Given the description of an element on the screen output the (x, y) to click on. 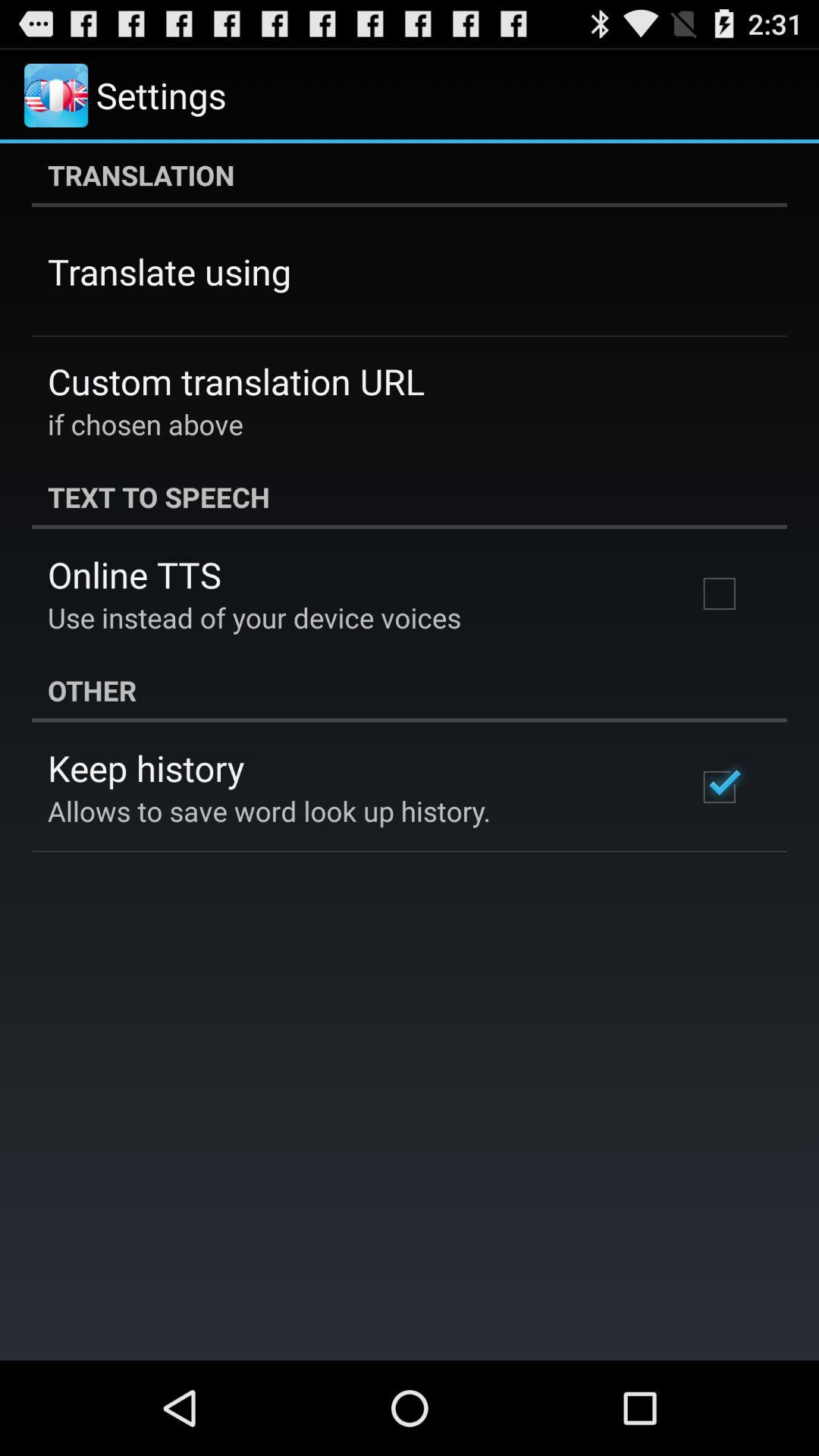
swipe to the allows to save item (268, 810)
